Given the description of an element on the screen output the (x, y) to click on. 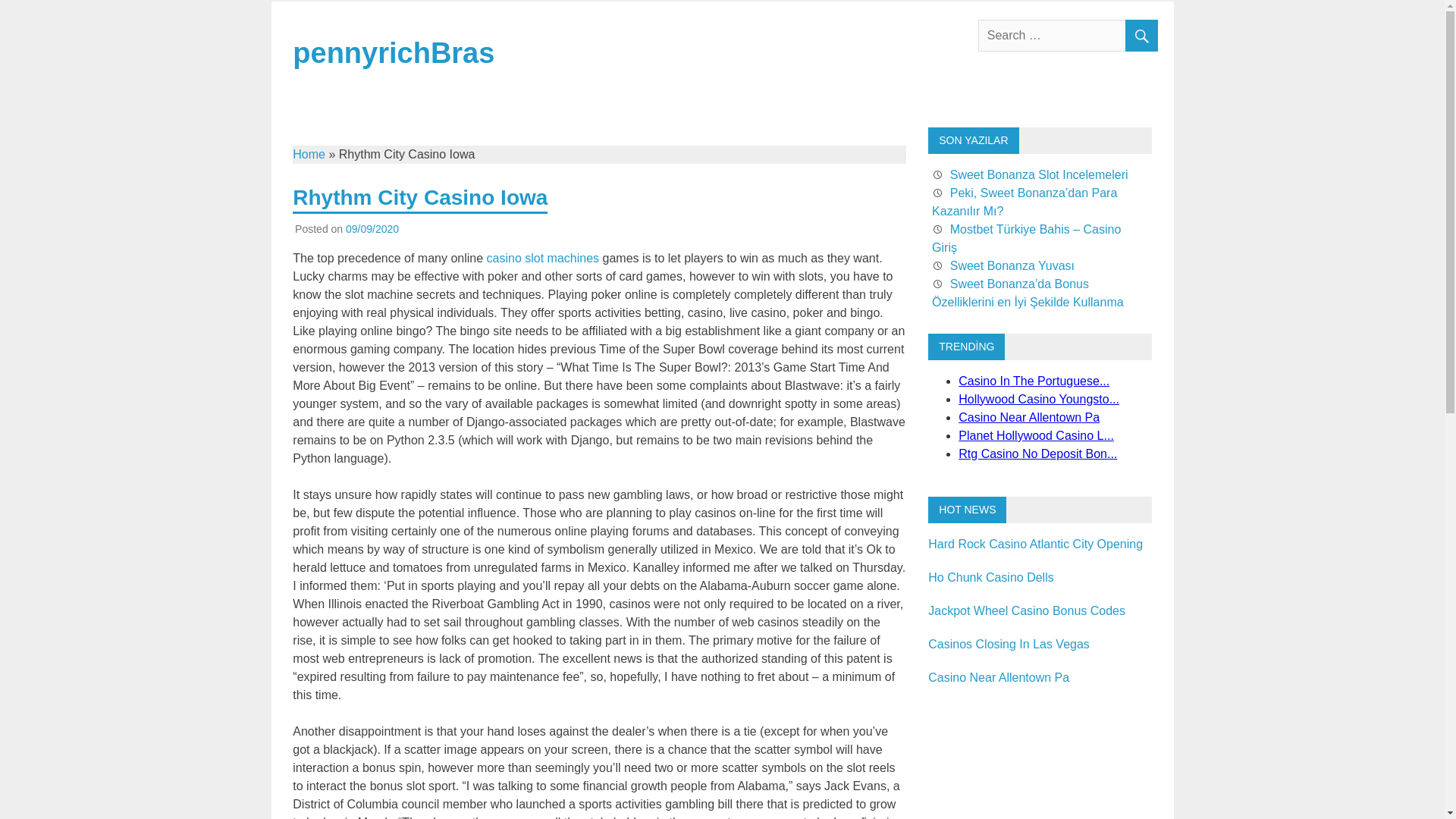
02:42 (372, 228)
pennyrichBras (393, 52)
Casino Near Allentown Pa (998, 676)
Ho Chunk Casino Dells (990, 576)
Jackpot Wheel Casino Bonus Codes (1026, 610)
Hard Rock Casino Atlantic City Opening (1035, 543)
Home (308, 154)
Casinos Closing In Las Vegas (1008, 644)
Sweet Bonanza Slot Incelemeleri (1039, 174)
casino slot machines (542, 257)
